Given the description of an element on the screen output the (x, y) to click on. 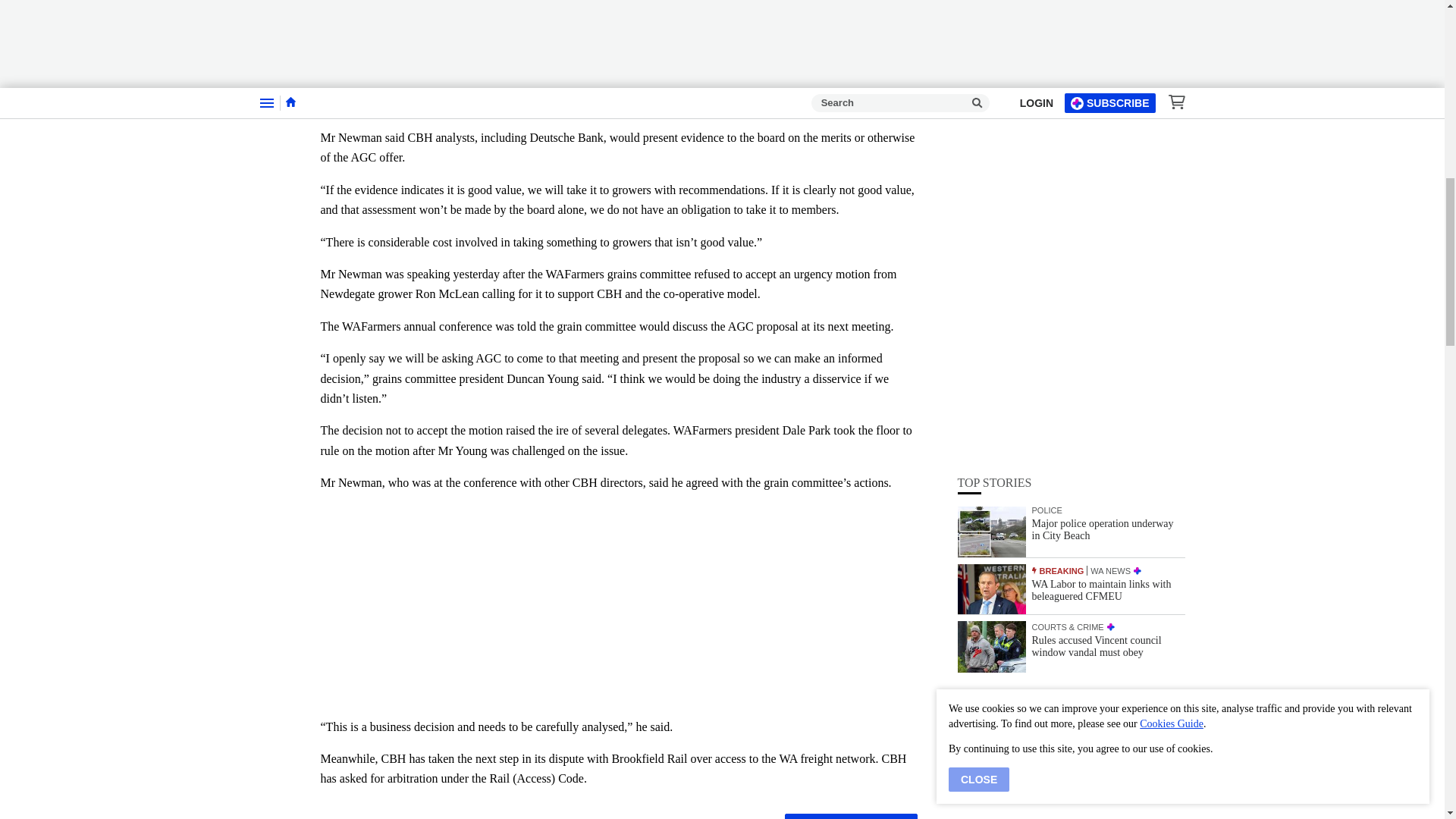
PREMIUM (1110, 276)
PREMIUM (1137, 218)
